Given the description of an element on the screen output the (x, y) to click on. 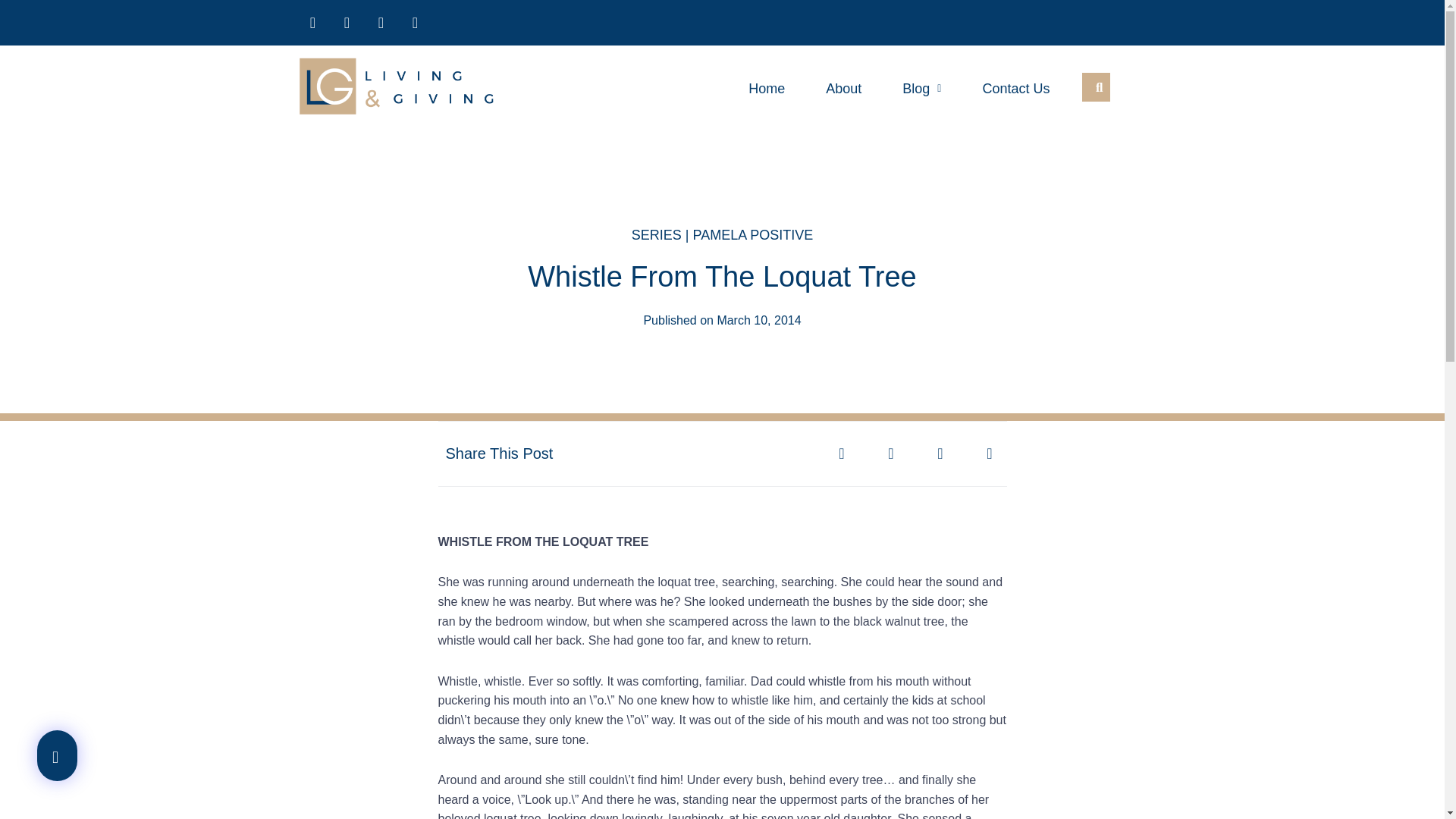
Search (1092, 86)
About (843, 88)
Twitter (346, 22)
Contact Us (1015, 88)
Facebook (312, 22)
Linkedin (415, 22)
Published on March 10, 2014 (721, 320)
Home (766, 88)
Blog (921, 88)
Instagram (380, 22)
